Given the description of an element on the screen output the (x, y) to click on. 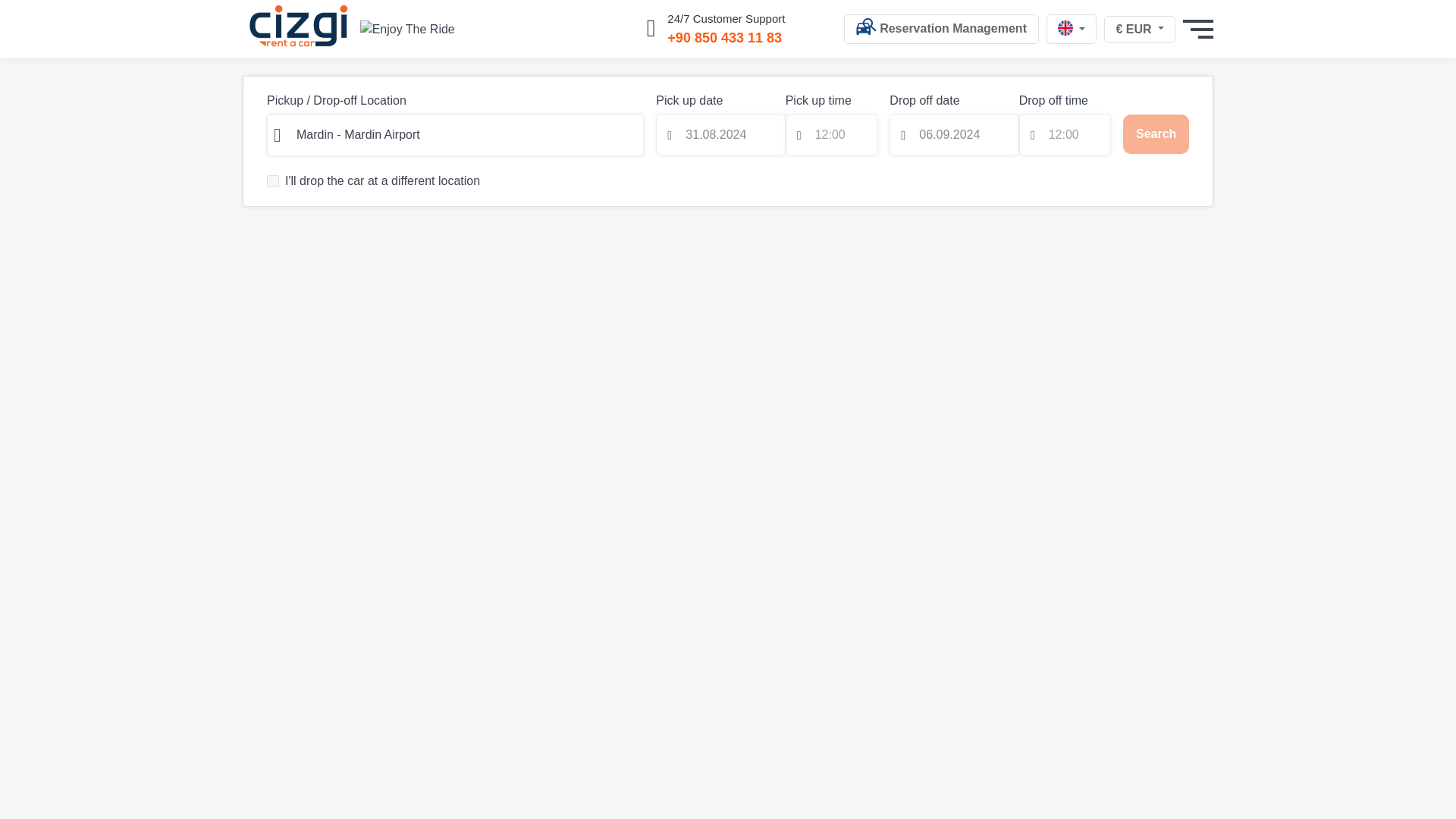
Reservation Management (941, 29)
31.08.2024 (720, 134)
Mardin - Mardin Airport (454, 135)
06.09.2024 (953, 134)
